Given the description of an element on the screen output the (x, y) to click on. 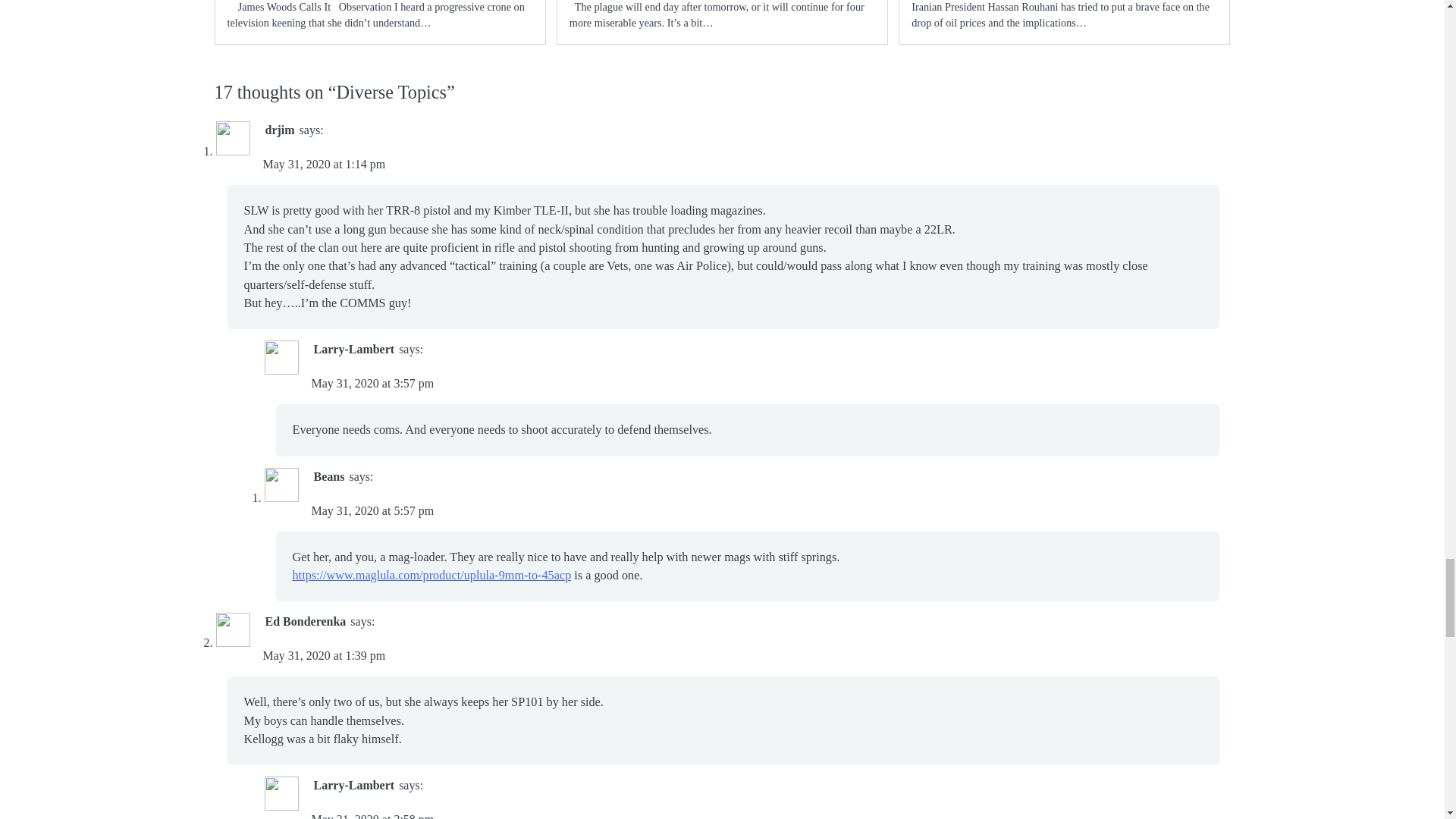
May 31, 2020 at 3:57 pm (372, 382)
May 31, 2020 at 1:39 pm (323, 655)
May 31, 2020 at 1:14 pm (323, 164)
May 31, 2020 at 5:57 pm (372, 510)
May 31, 2020 at 3:58 pm (372, 816)
Ed Bonderenka (305, 621)
drjim (279, 129)
